Given the description of an element on the screen output the (x, y) to click on. 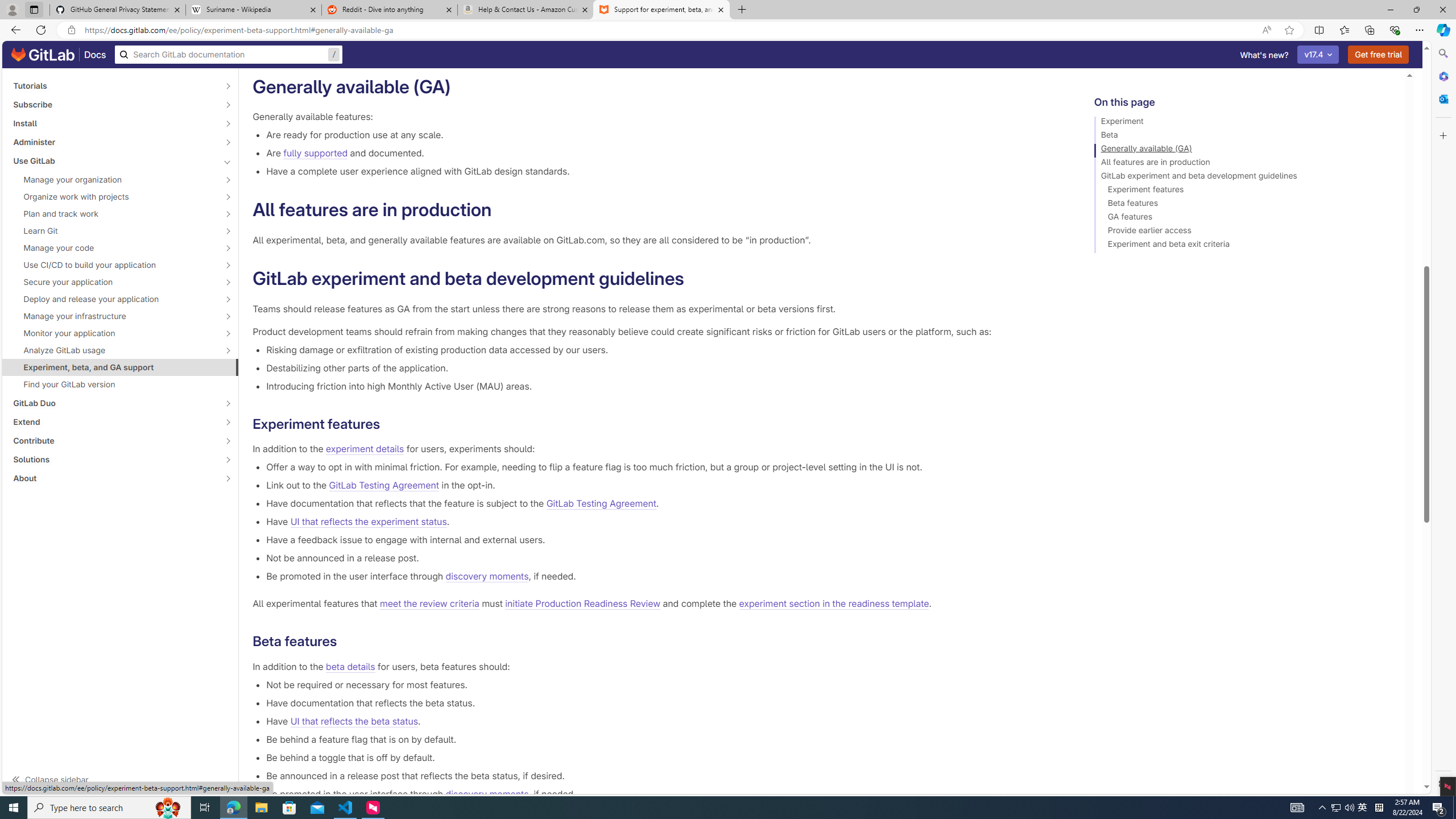
Get free trial (1378, 54)
GA features (1244, 218)
GA features (1244, 218)
GitLab documentation home (42, 54)
Organize work with projects (113, 196)
Get free trial (1378, 54)
GitLab Duo (113, 402)
Experiment, beta, and GA support (120, 366)
What's new? (1263, 54)
Tutorials (113, 85)
All features are in production (1244, 164)
Experiment and beta exit criteria (1244, 246)
